Given the description of an element on the screen output the (x, y) to click on. 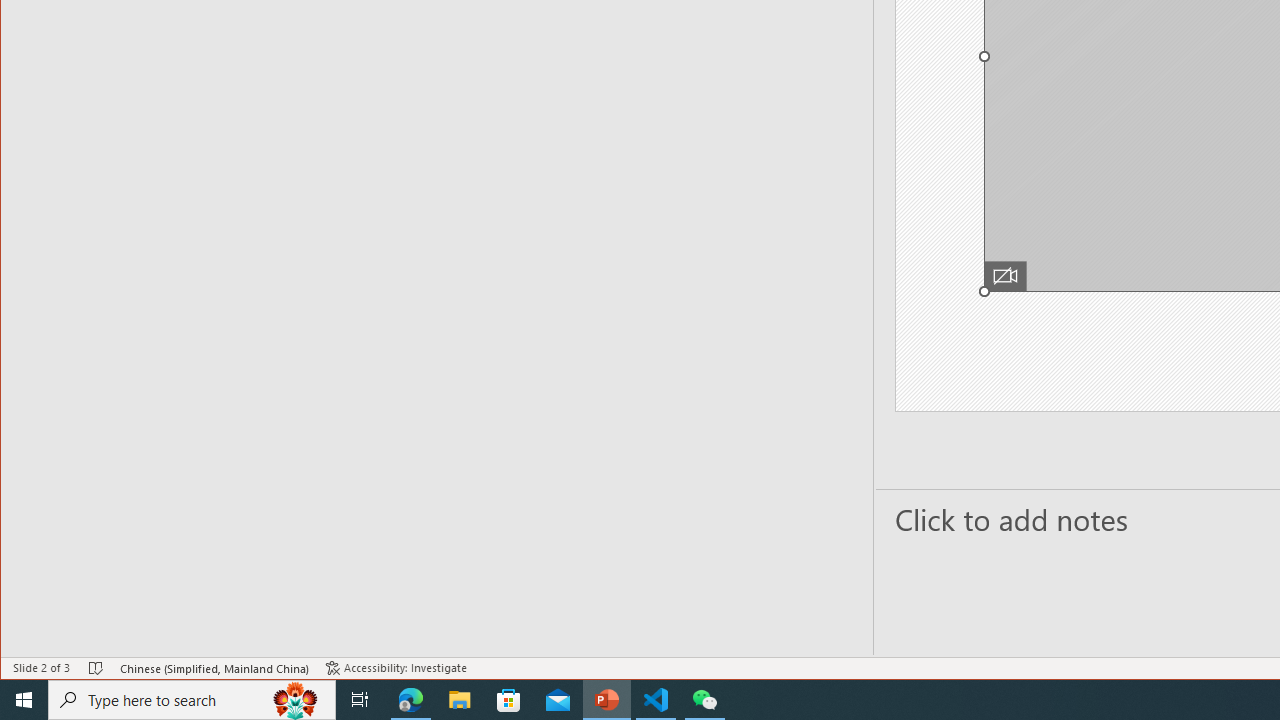
Search highlights icon opens search home window (295, 699)
Type here to search (191, 699)
Microsoft Edge - 1 running window (411, 699)
WeChat - 1 running window (704, 699)
Microsoft Store (509, 699)
PowerPoint - 1 running window (607, 699)
File Explorer (460, 699)
Visual Studio Code - 1 running window (656, 699)
Start (24, 699)
Task View (359, 699)
